Given the description of an element on the screen output the (x, y) to click on. 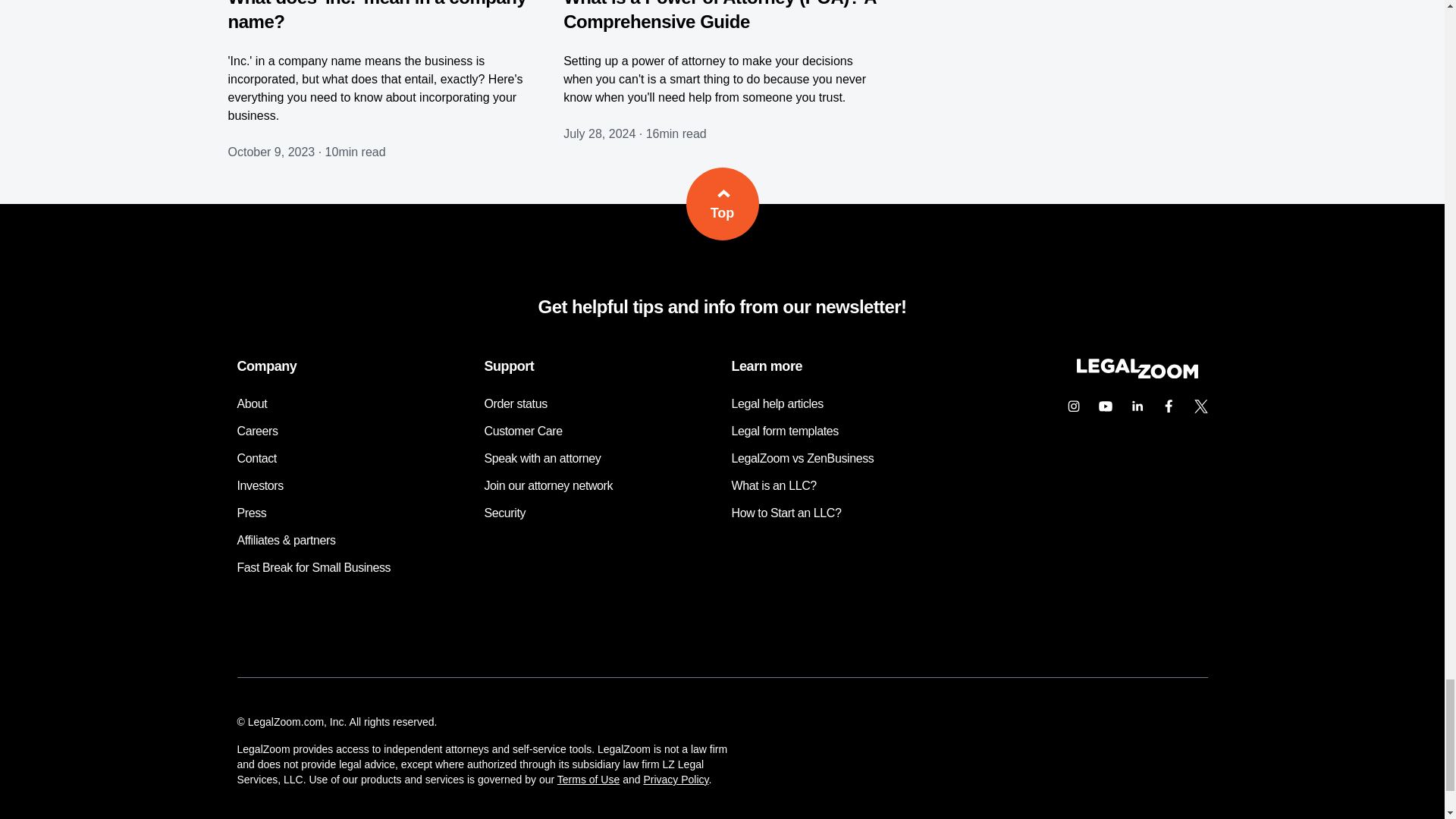
Twitter (1200, 406)
LinkedIn (1137, 406)
Instagram (1073, 406)
Facebook (1169, 406)
LegalZoom (1136, 374)
What does 'inc.' mean in a company name? (376, 15)
YouTube (1105, 406)
Back to top (721, 203)
